Given the description of an element on the screen output the (x, y) to click on. 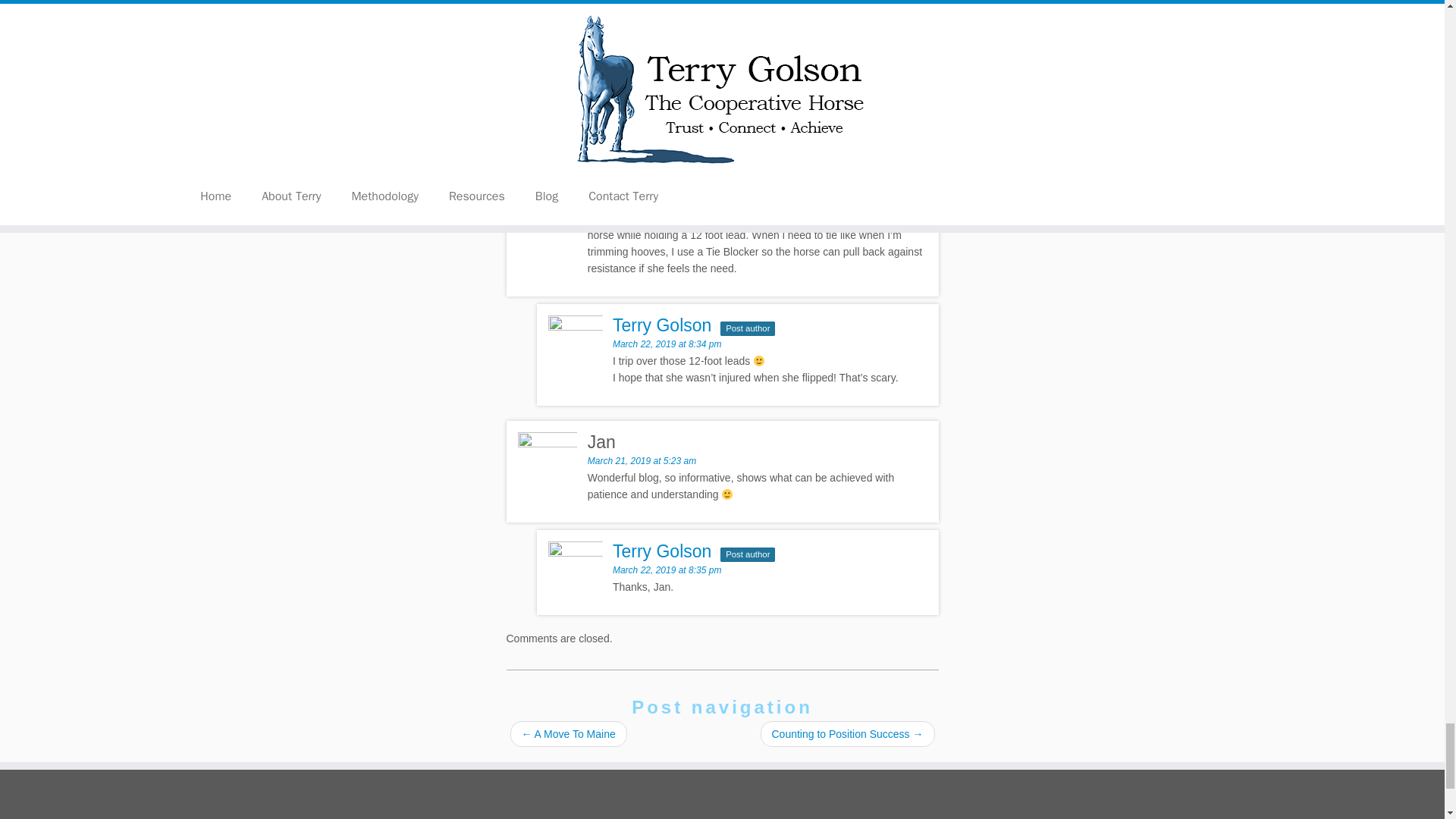
March 22, 2019 at 8:33 pm (666, 50)
Terry Golson (661, 32)
